Given the description of an element on the screen output the (x, y) to click on. 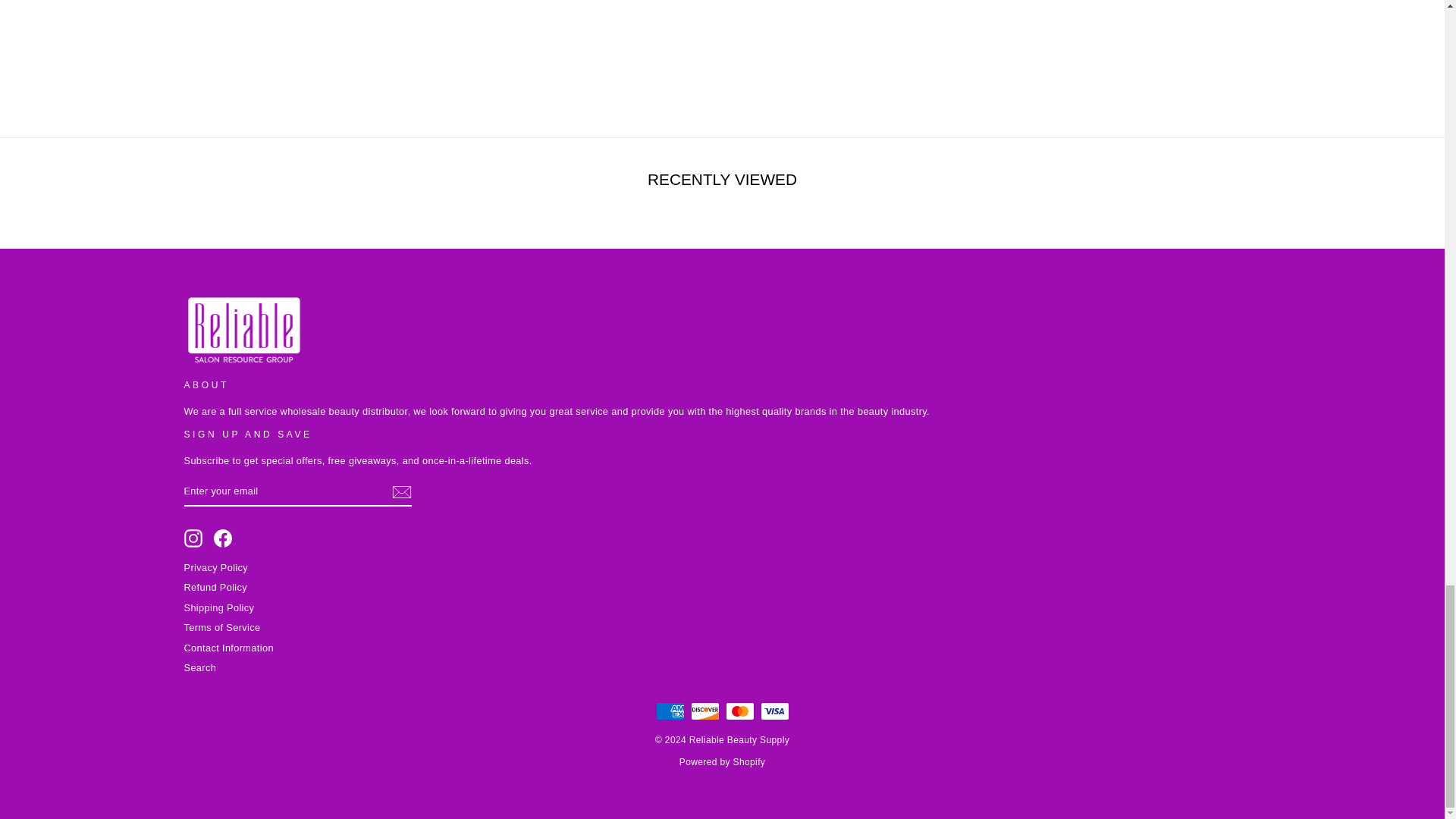
Visa (774, 710)
Reliable Beauty Supply on Facebook (222, 538)
Reliable Beauty Supply on Instagram (192, 538)
American Express (669, 710)
Mastercard (739, 710)
Discover (704, 710)
